Given the description of an element on the screen output the (x, y) to click on. 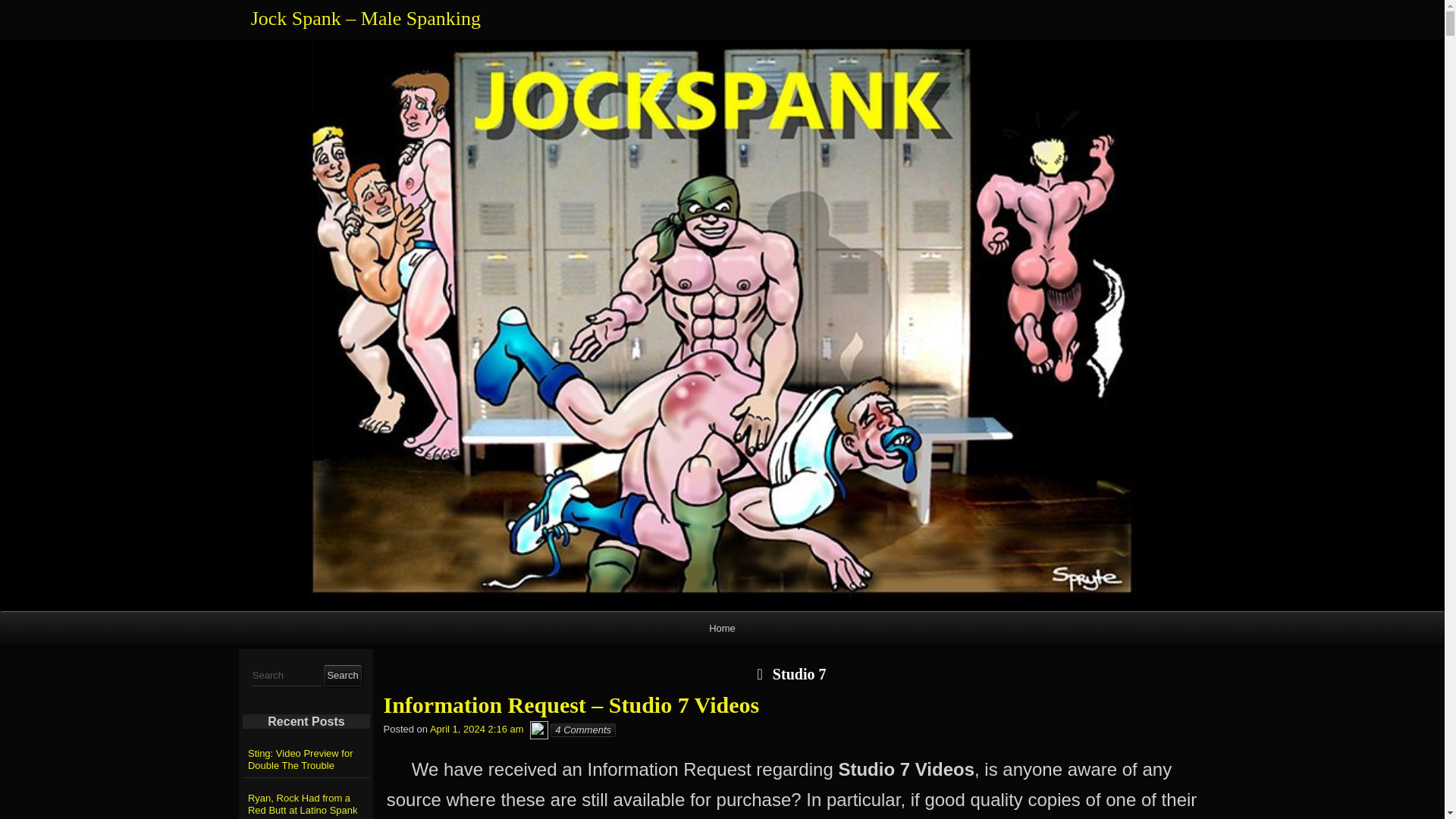
Home (721, 628)
4 Comments (582, 729)
April 1, 2024 2:16 am (476, 729)
Ward (538, 729)
Search (342, 675)
